Given the description of an element on the screen output the (x, y) to click on. 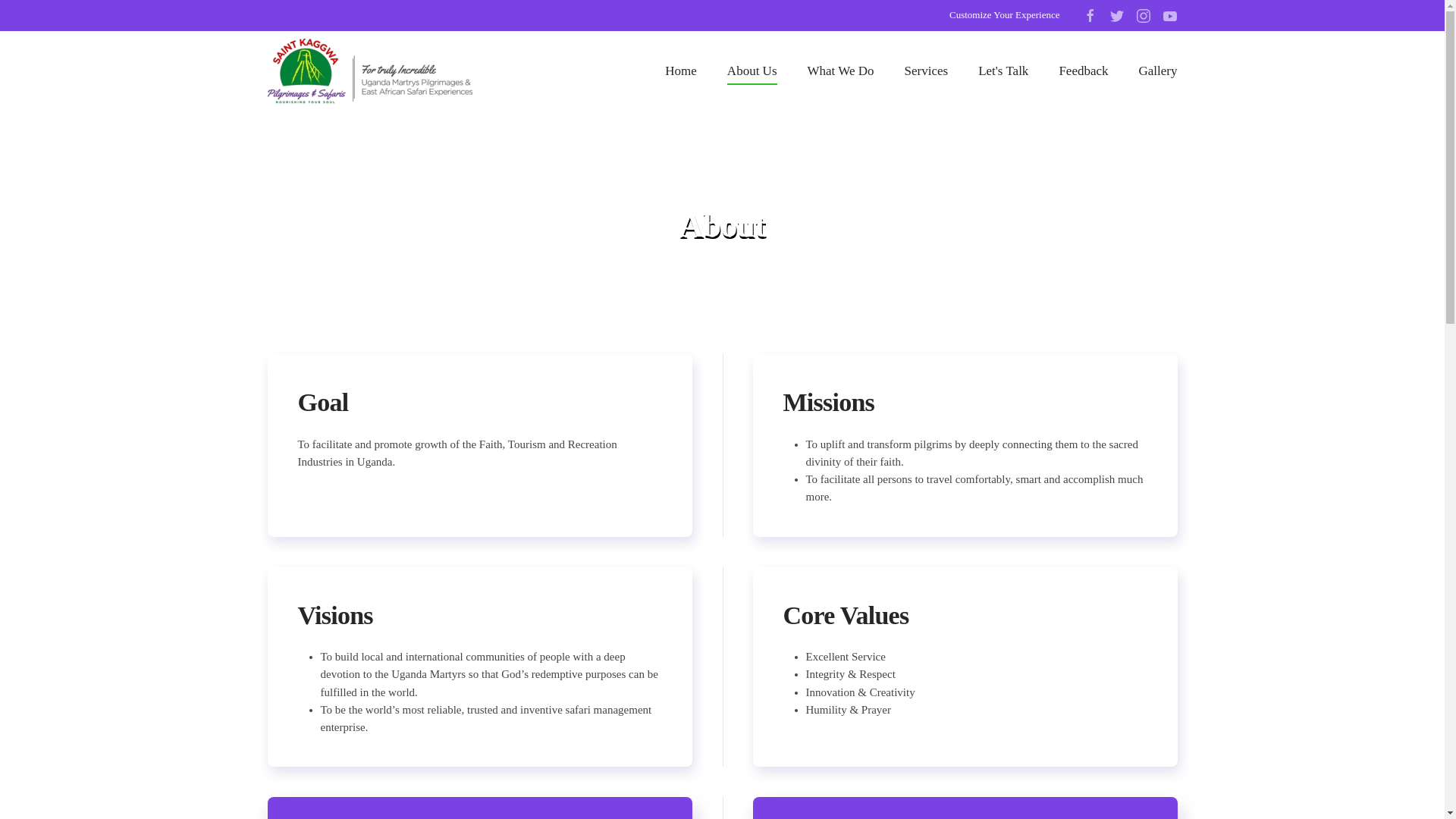
About Us (751, 70)
Services (926, 70)
Home (680, 70)
Customize Your Experience (1004, 14)
What We Do (840, 70)
Feedback (1082, 70)
Let's Talk (1002, 70)
Gallery (1158, 70)
